Given the description of an element on the screen output the (x, y) to click on. 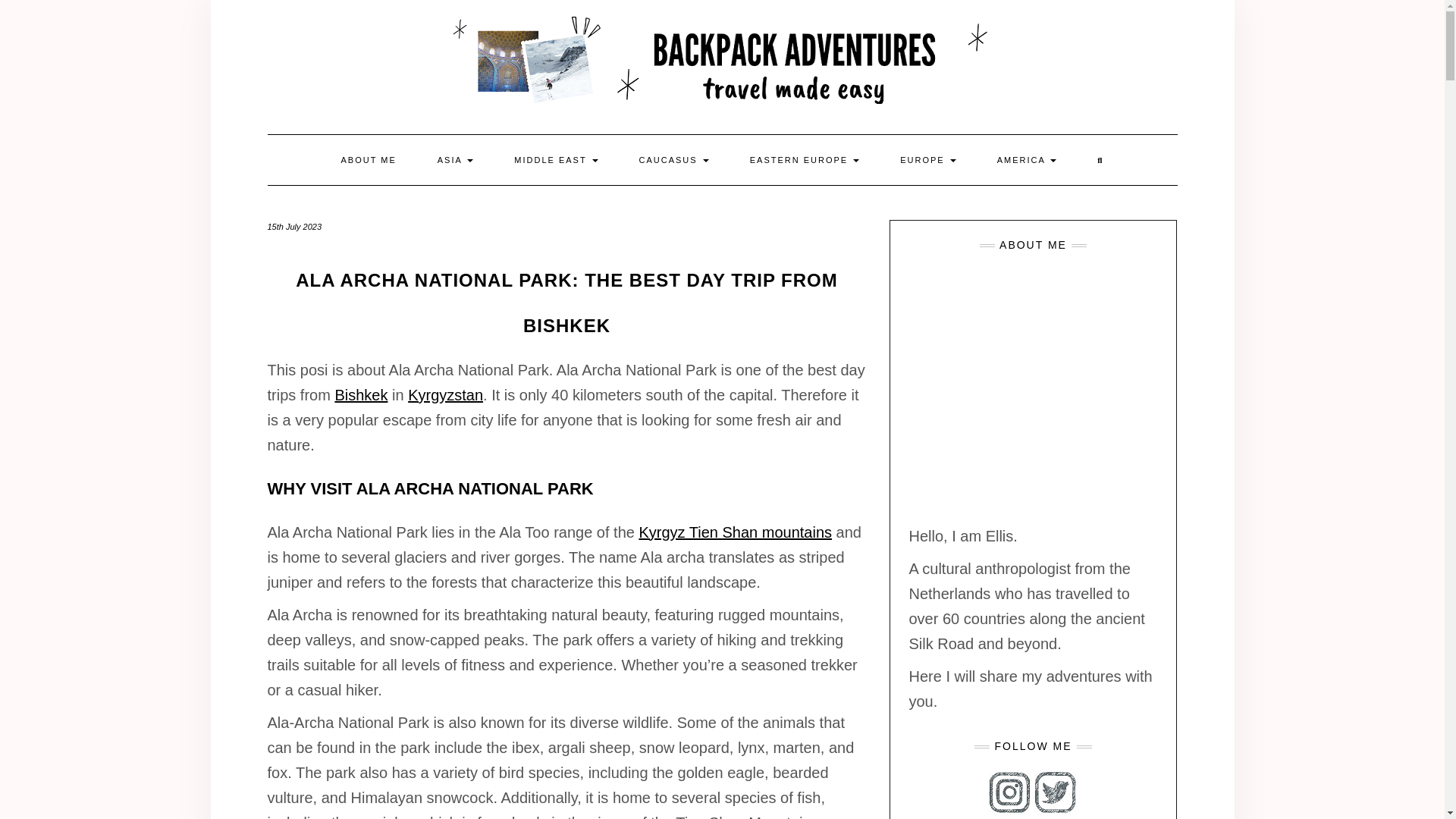
ABOUT ME (368, 160)
MIDDLE EAST (555, 160)
ASIA (455, 160)
EASTERN EUROPE (804, 160)
CAUCASUS (673, 160)
